Given the description of an element on the screen output the (x, y) to click on. 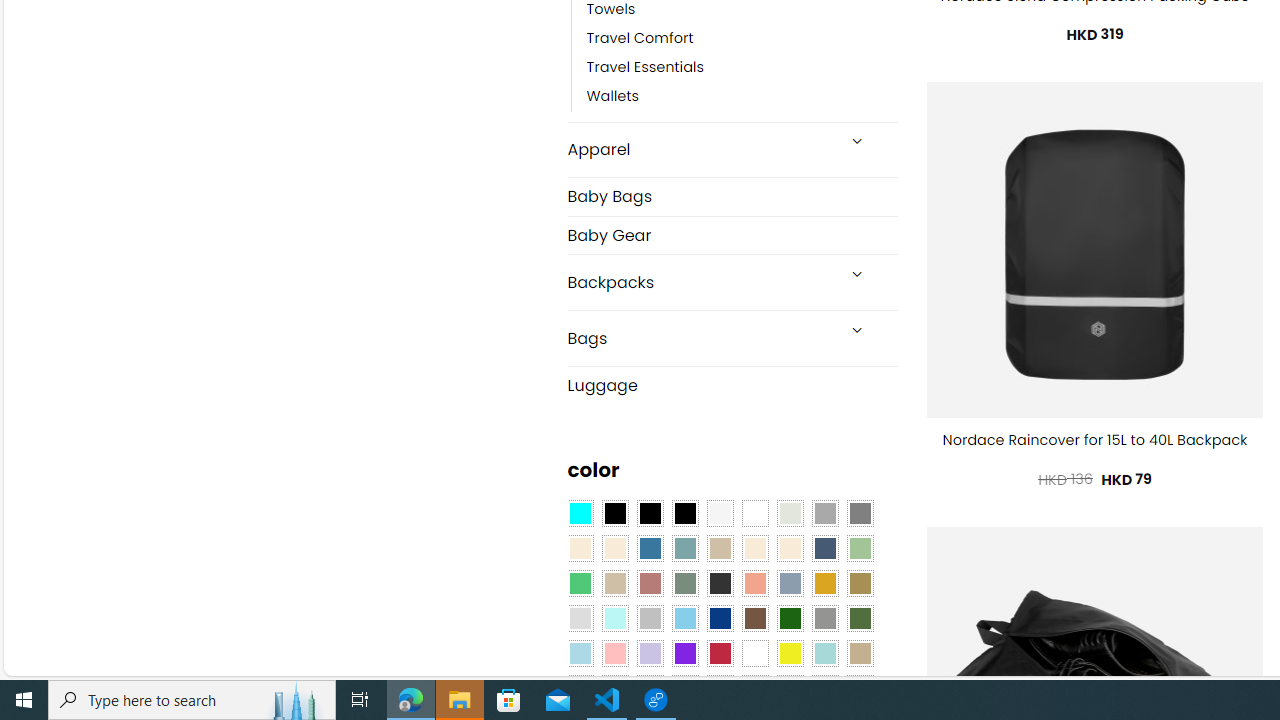
Black (650, 514)
Beige (579, 548)
Light Blue (579, 653)
Backpacks (700, 282)
Green (859, 619)
Wallets (742, 97)
Pearly White (719, 514)
Rose (650, 583)
Nordace Raincover for 15L to 40L Backpack (1095, 440)
Apparel (700, 150)
Emerald Green (579, 583)
Blue Sage (684, 548)
Gold (824, 583)
Brown (755, 619)
Baby Gear (732, 235)
